Given the description of an element on the screen output the (x, y) to click on. 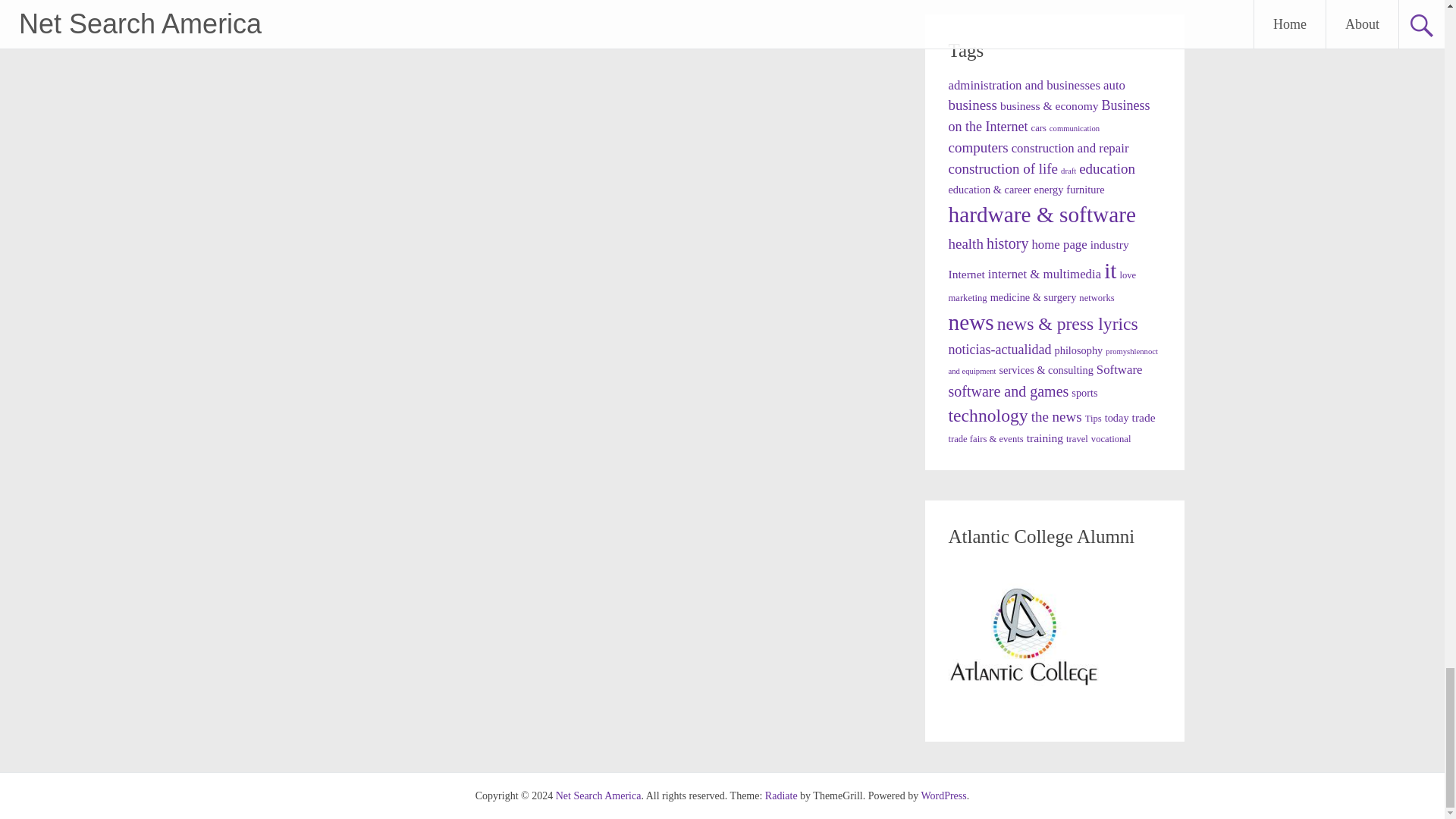
Net Search America (599, 795)
WordPress (943, 795)
Radiate (781, 795)
